Given the description of an element on the screen output the (x, y) to click on. 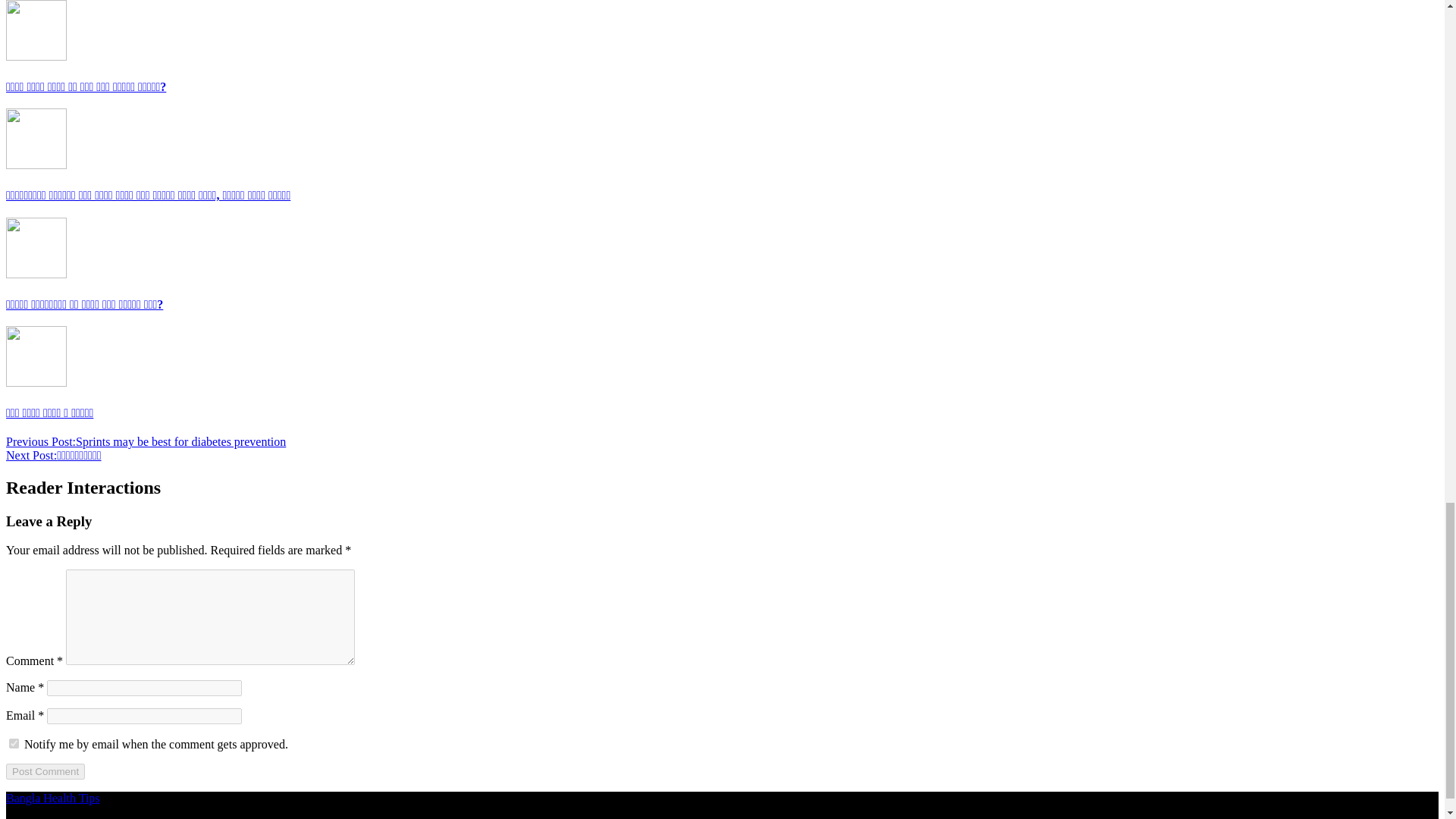
1 (13, 743)
Post Comment (44, 771)
Bangla Health Tips (52, 797)
Post Comment (44, 771)
Previous Post:Sprints may be best for diabetes prevention (145, 440)
